Given the description of an element on the screen output the (x, y) to click on. 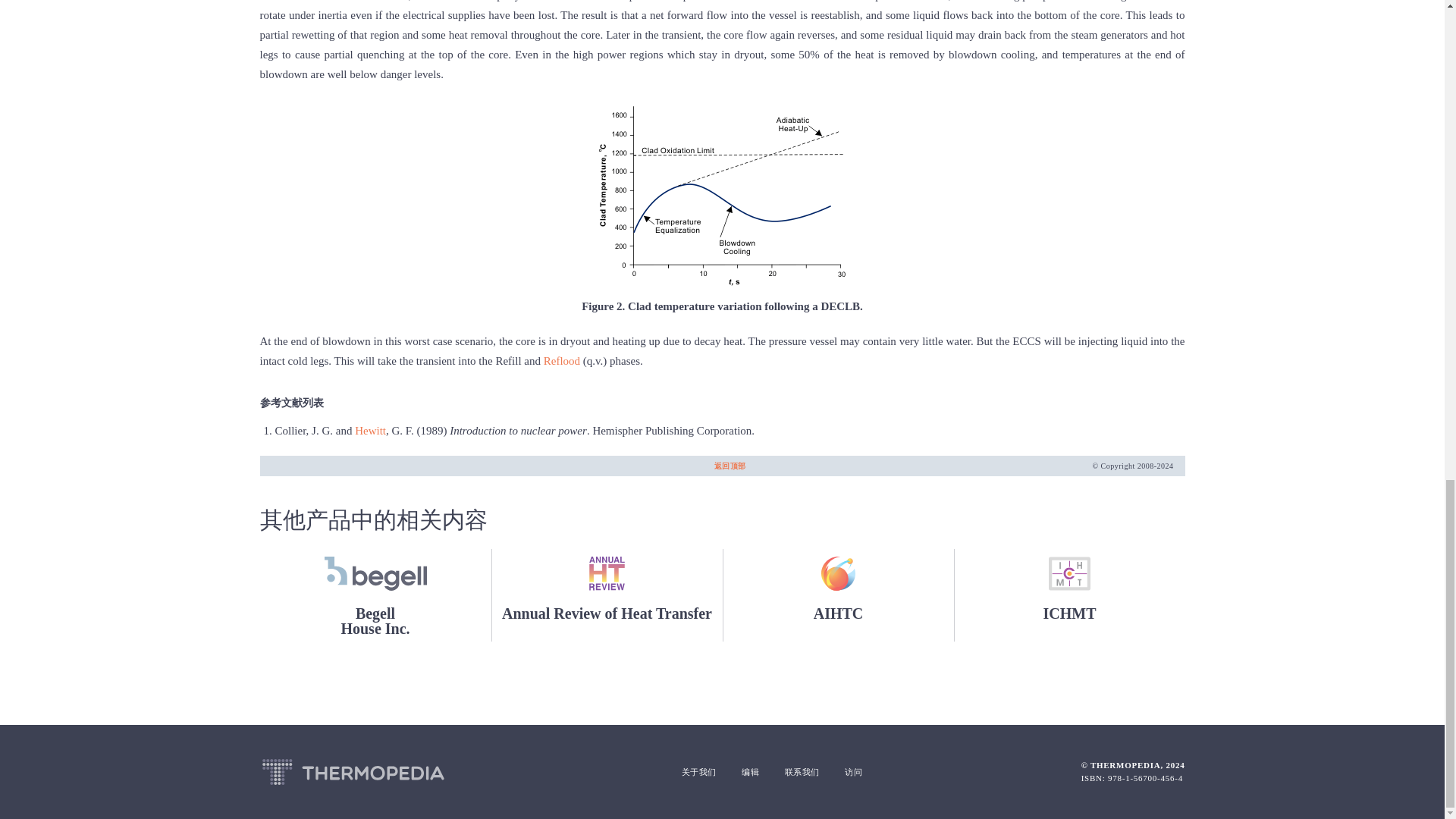
AIHTC (837, 594)
Hewitt (370, 430)
Annual Review of Heat Transfer (607, 594)
Reflood (374, 594)
REFLOOD (561, 360)
